Given the description of an element on the screen output the (x, y) to click on. 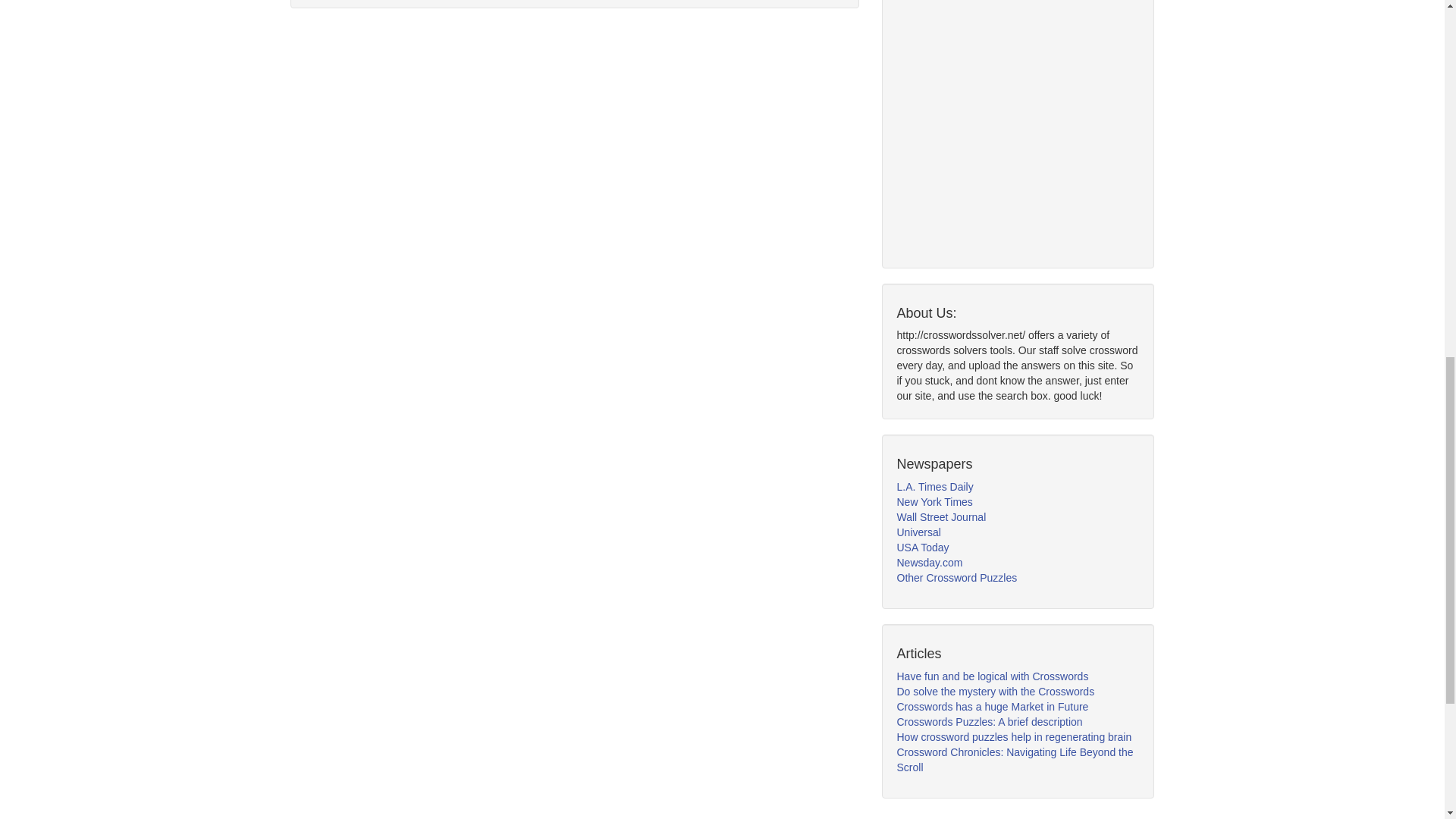
Newsday.com (929, 562)
Crosswords Puzzles: A brief description (988, 721)
Other Crossword Puzzles (956, 577)
New York Times (934, 501)
Have fun and be logical with Crosswords (991, 676)
Advertisement (1010, 124)
How crossword puzzles help in regenerating brain (1013, 736)
Do solve the mystery with the Crosswords (995, 691)
Wall Street Journal (940, 517)
Universal (918, 532)
Crossword Chronicles: Navigating Life Beyond the Scroll (1014, 759)
USA Today (922, 547)
L.A. Times Daily (934, 486)
Crosswords has a huge Market in Future (991, 706)
